Given the description of an element on the screen output the (x, y) to click on. 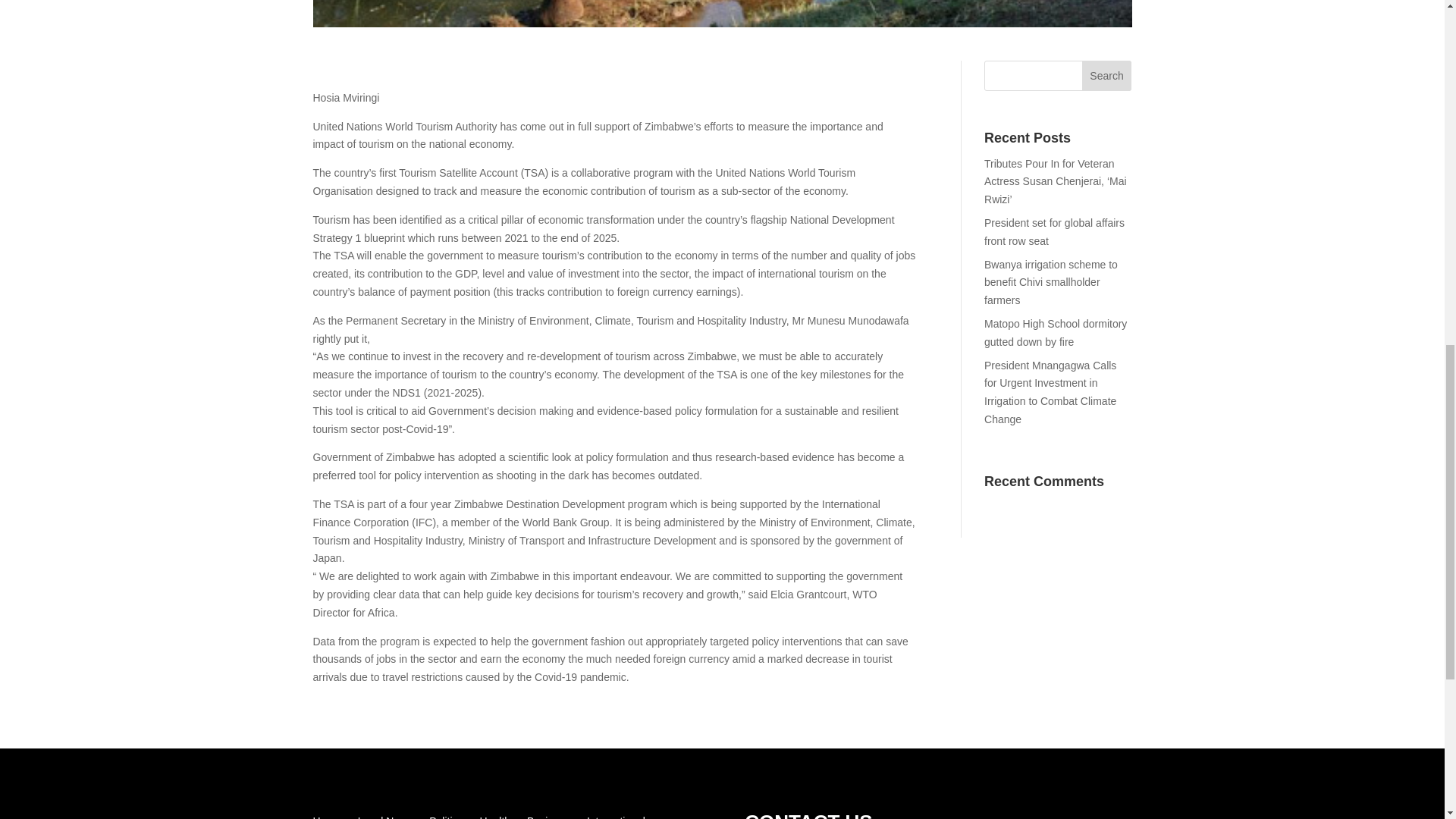
Search (1106, 75)
unnamed (722, 13)
